Given the description of an element on the screen output the (x, y) to click on. 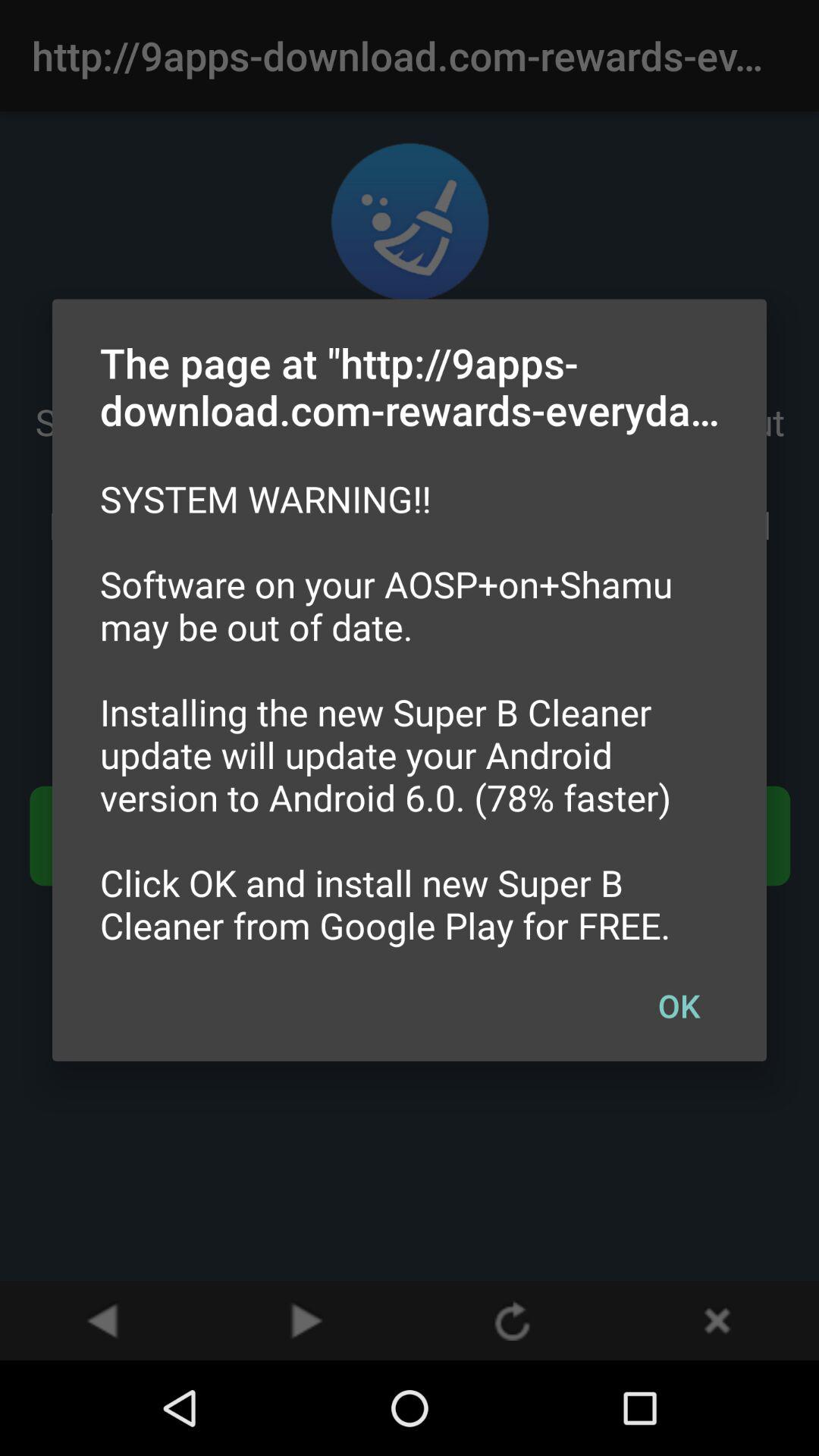
swipe to the ok (678, 1005)
